Given the description of an element on the screen output the (x, y) to click on. 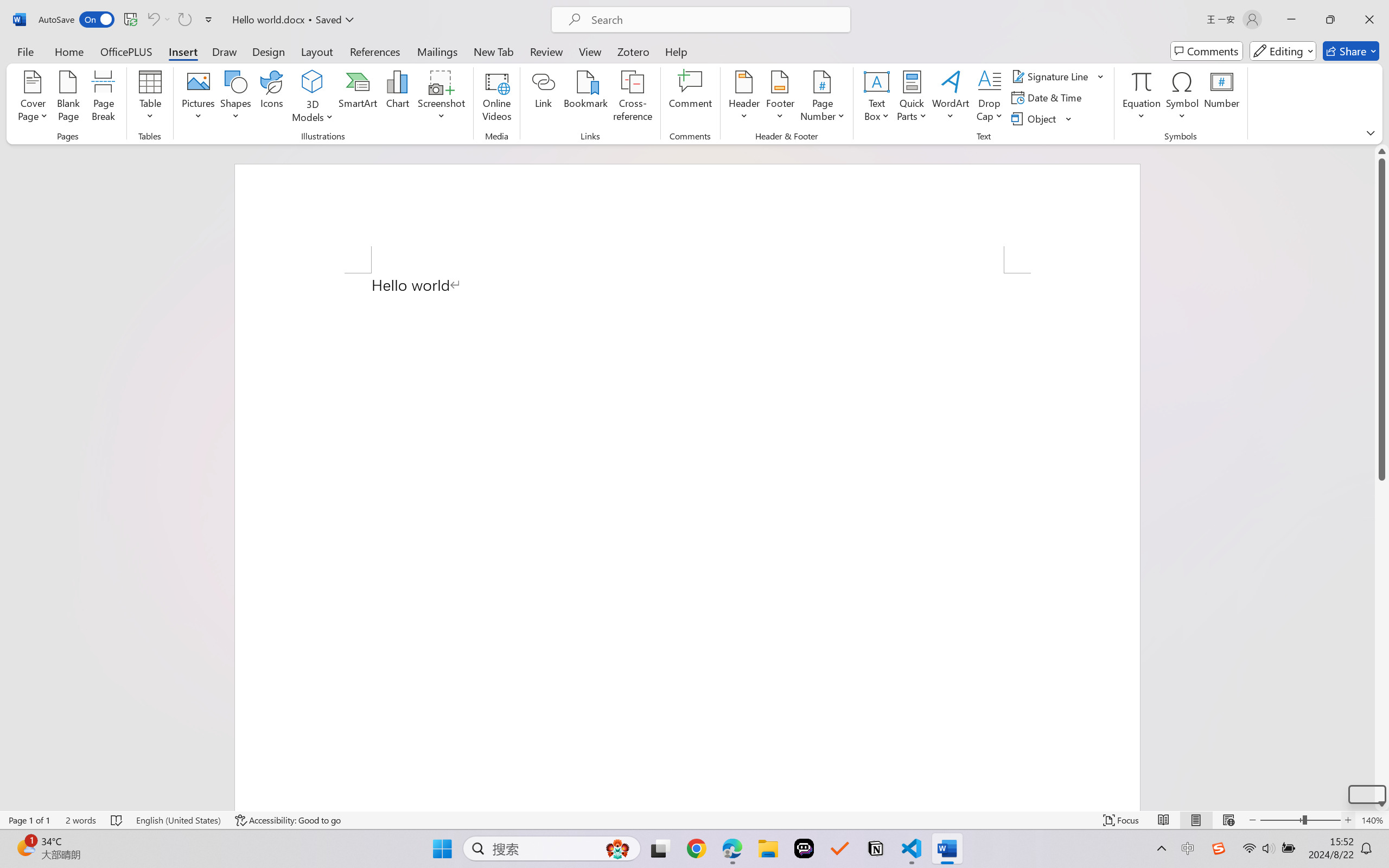
Bookmark... (585, 97)
Microsoft search (715, 19)
Zotero (632, 51)
Chart... (396, 97)
WordArt (950, 97)
Table (149, 97)
Page down (1382, 638)
Mode (1283, 50)
Close (1369, 19)
Icons (271, 97)
Class: Image (1218, 847)
Symbol (1181, 97)
Signature Line (1058, 75)
Page 1 content (687, 541)
